Given the description of an element on the screen output the (x, y) to click on. 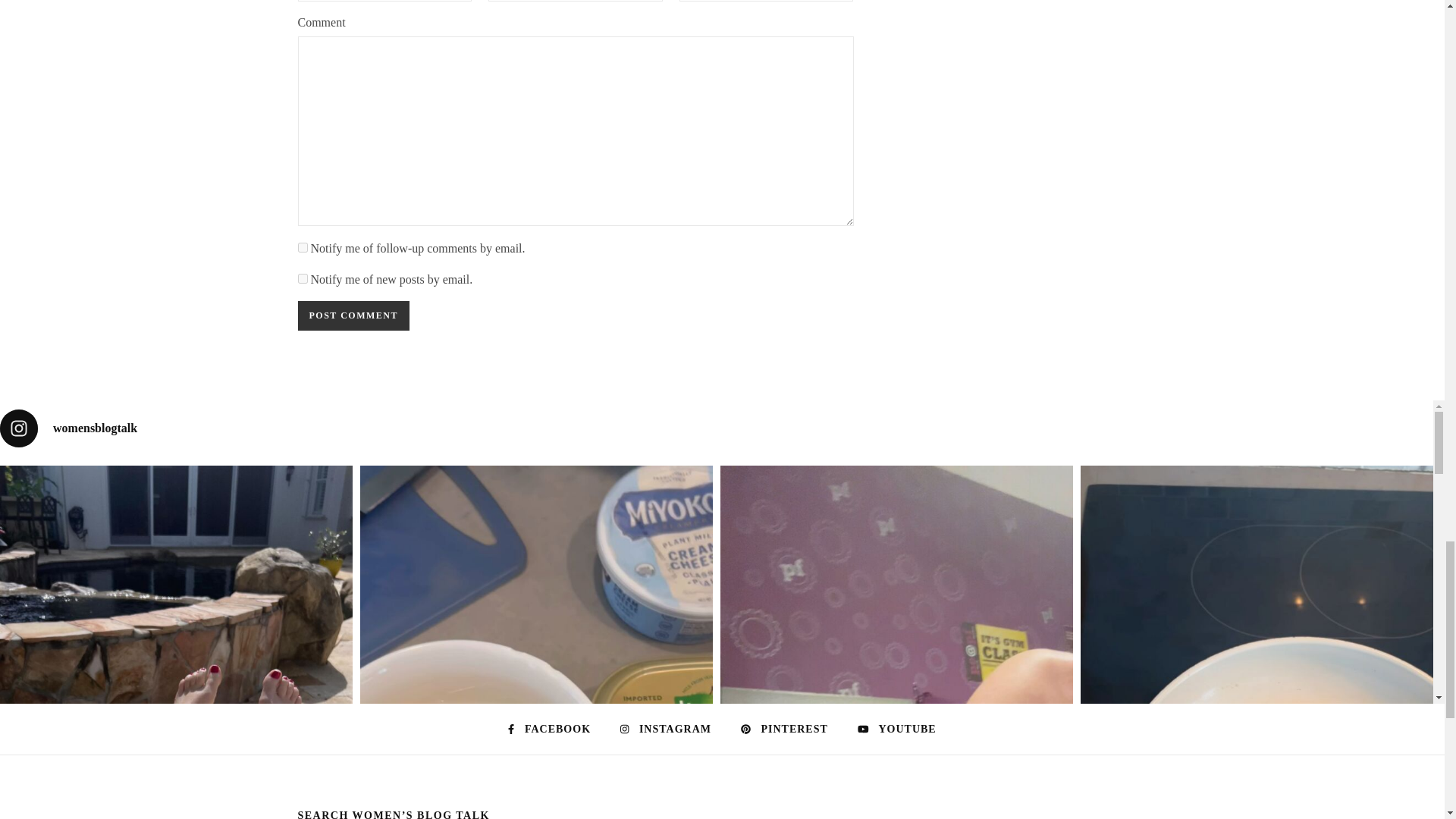
Post Comment (353, 315)
subscribe (302, 278)
subscribe (302, 247)
